Given the description of an element on the screen output the (x, y) to click on. 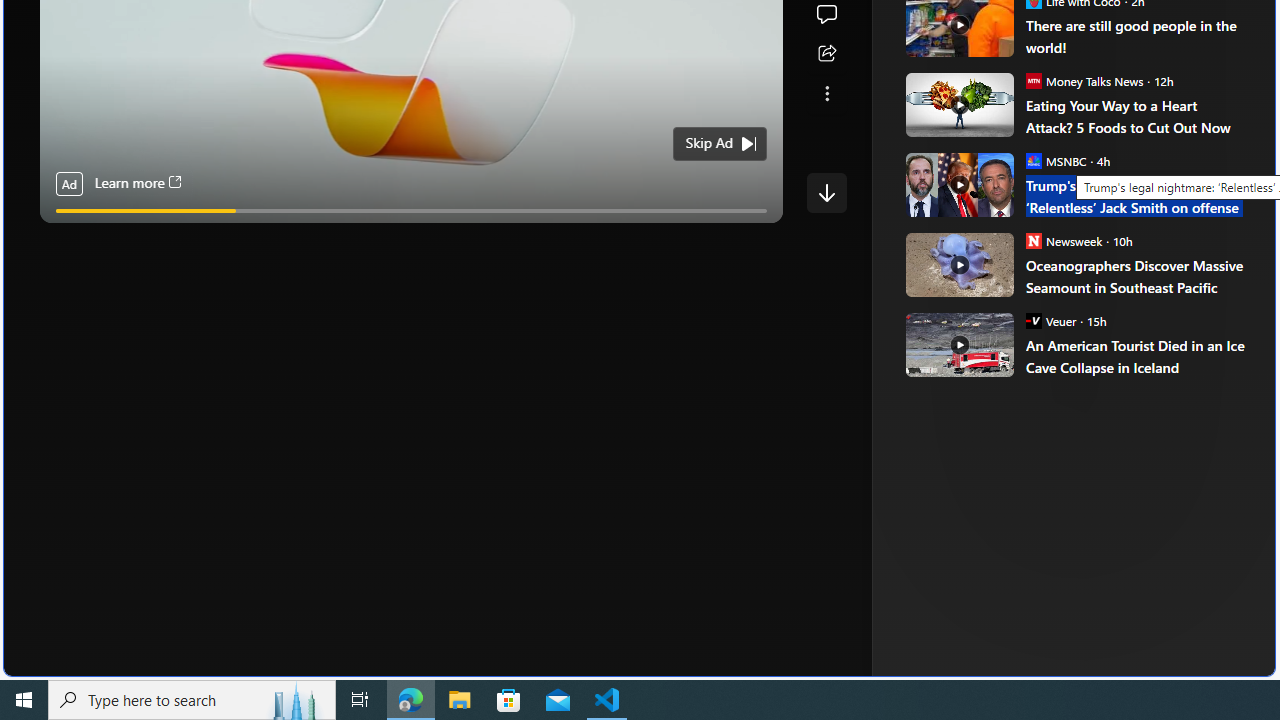
Share this story (826, 53)
An American Tourist Died in an Ice Cave Collapse in Iceland (958, 344)
Pause (68, 233)
Skip Ad (708, 143)
Newsweek (1033, 240)
Eating Your Way to a Heart Attack? 5 Foods to Cut Out Now (1136, 116)
MSNBC (1033, 160)
